Given the description of an element on the screen output the (x, y) to click on. 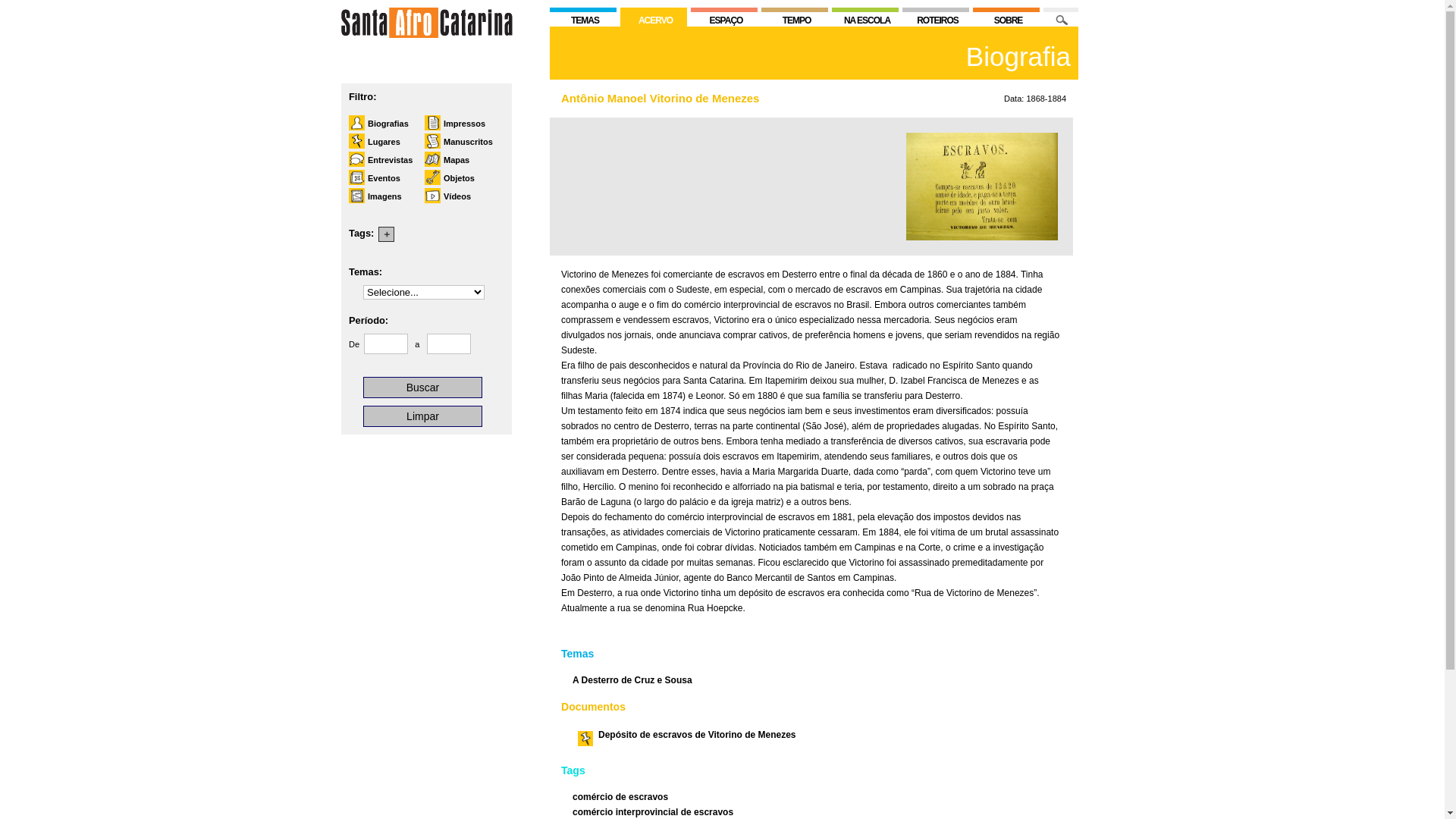
A Desterro de Cruz e Sousa Element type: text (632, 679)
Buscar Element type: text (422, 387)
SOBRE Element type: text (1005, 9)
Eventos Element type: text (376, 177)
Limpar Element type: text (422, 415)
ACERVO Element type: text (653, 19)
Impressos Element type: text (456, 123)
Manuscritos Element type: text (460, 141)
Biografias Element type: text (380, 123)
Lugares Element type: text (376, 141)
Mapas Element type: text (448, 159)
TEMPO Element type: text (794, 9)
Objetos Element type: text (451, 177)
ROTEIROS Element type: text (935, 9)
TEMAS Element type: text (582, 9)
NA ESCOLA Element type: text (864, 9)
Imagens Element type: text (376, 196)
Entrevistas Element type: text (382, 159)
